Given the description of an element on the screen output the (x, y) to click on. 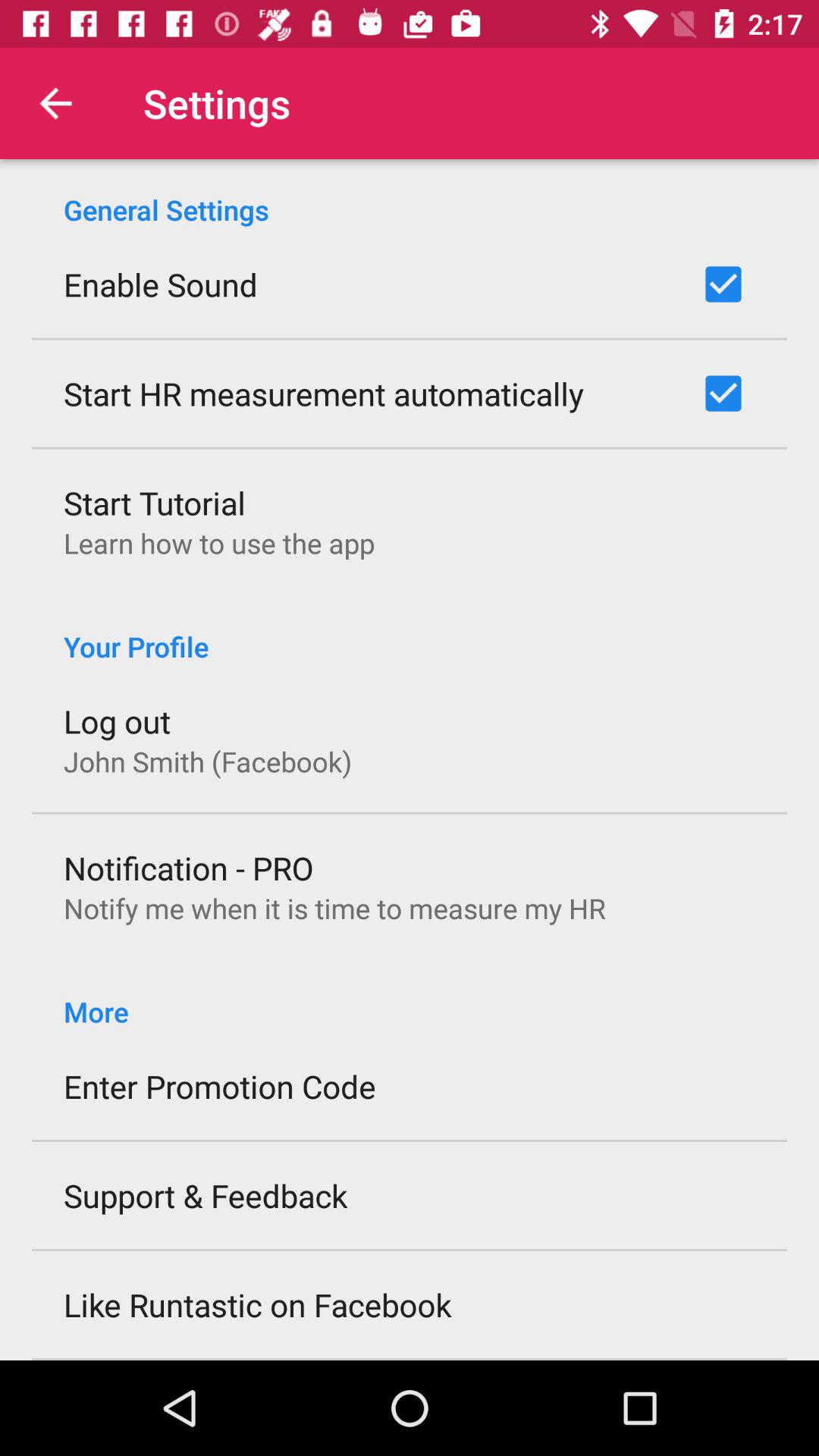
flip until learn how to (218, 542)
